Given the description of an element on the screen output the (x, y) to click on. 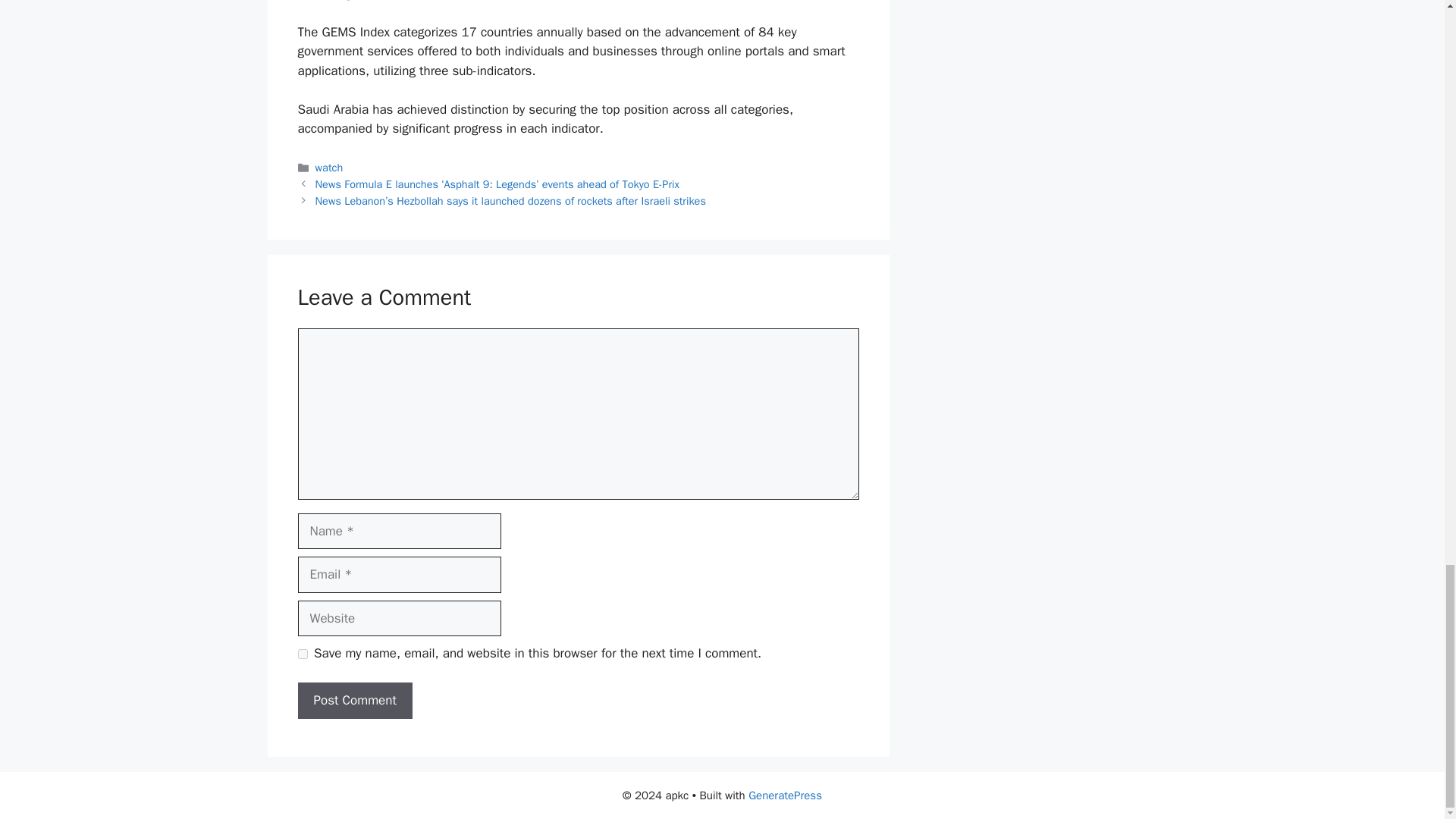
Post Comment (354, 700)
GeneratePress (785, 795)
yes (302, 654)
watch (329, 167)
Post Comment (354, 700)
